Given the description of an element on the screen output the (x, y) to click on. 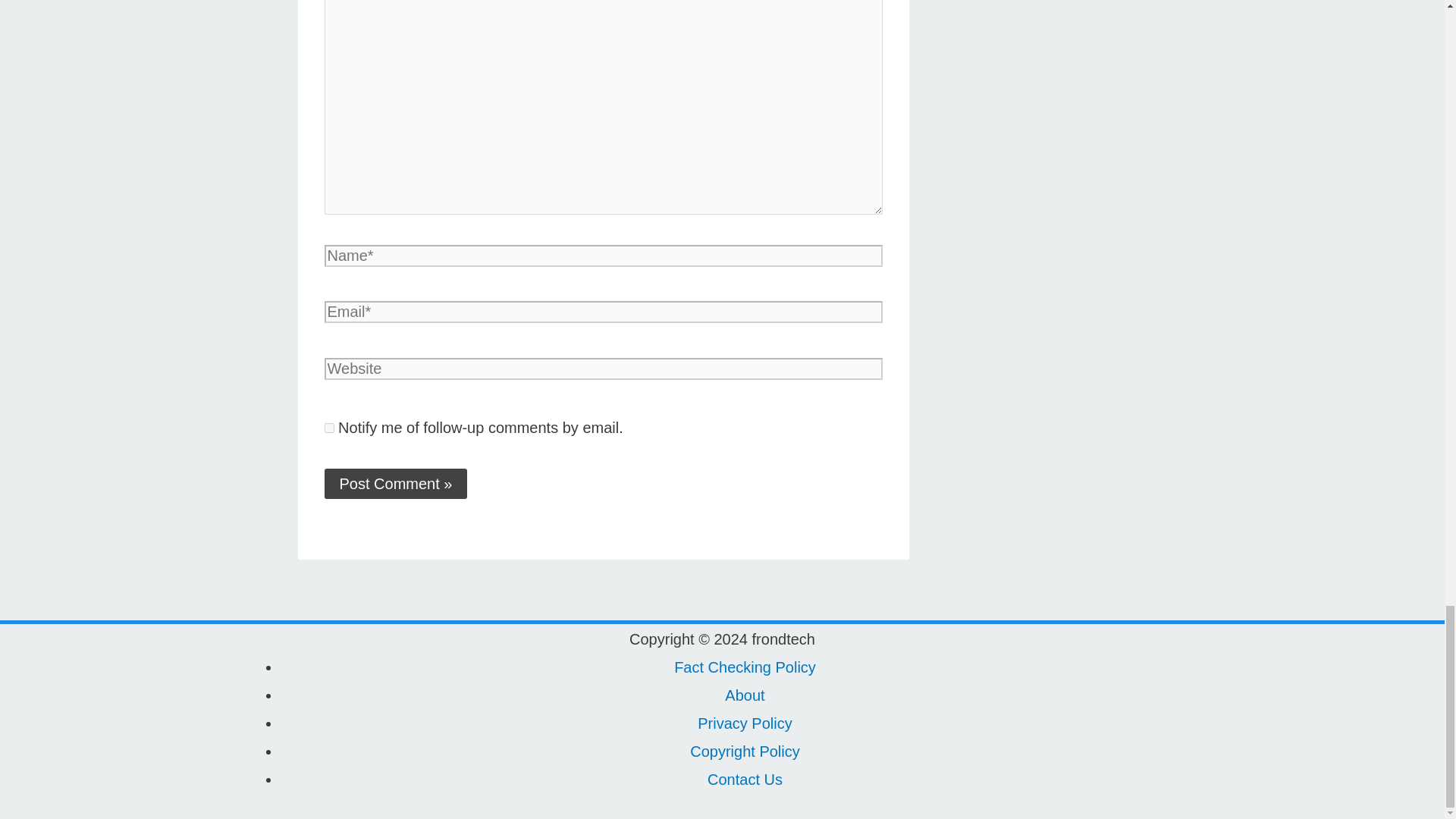
subscribe (329, 428)
Fact Checking Policy (745, 667)
Privacy Policy (744, 723)
About (744, 695)
